Given the description of an element on the screen output the (x, y) to click on. 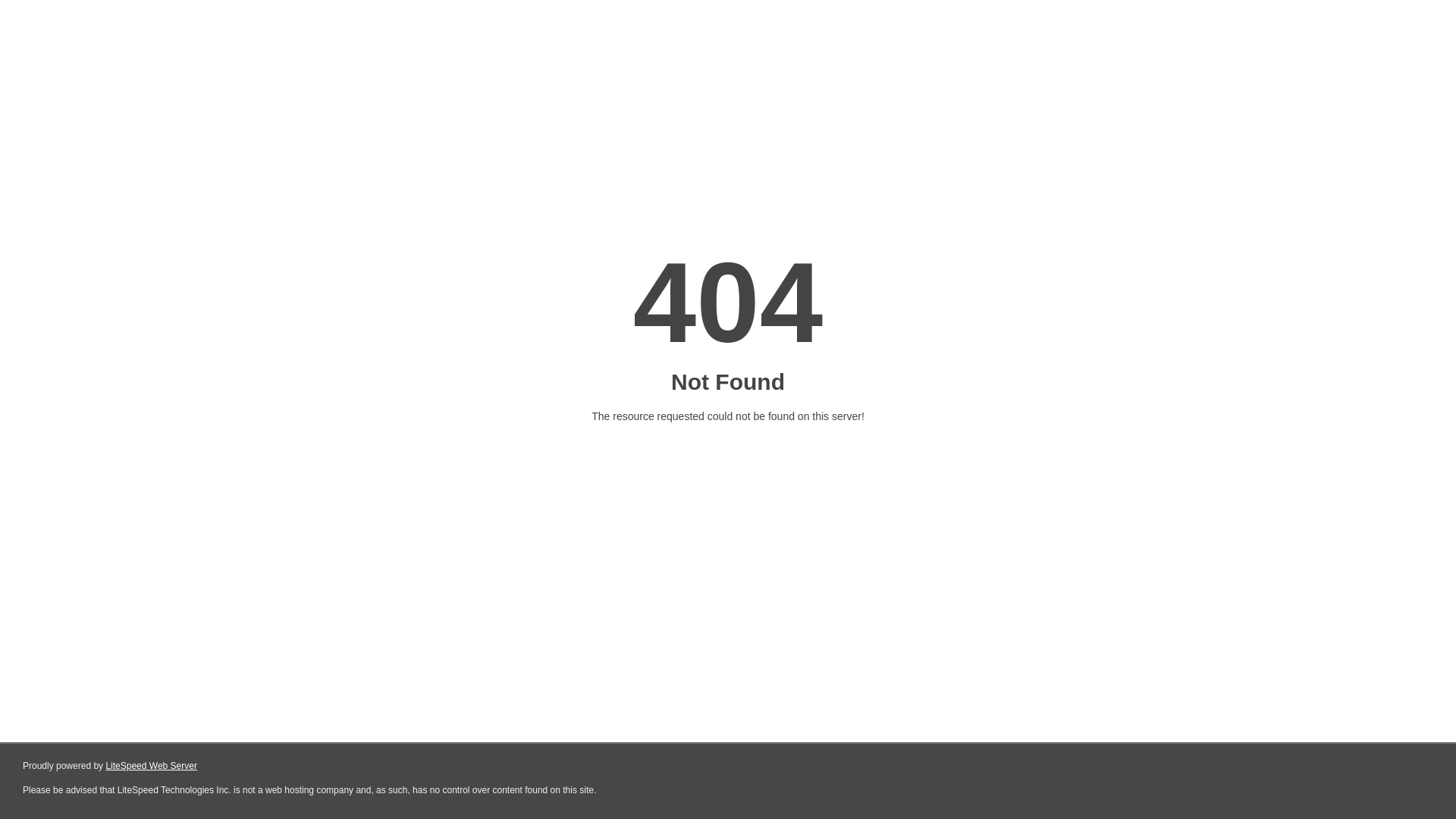
LiteSpeed Web Server Element type: text (151, 765)
